Given the description of an element on the screen output the (x, y) to click on. 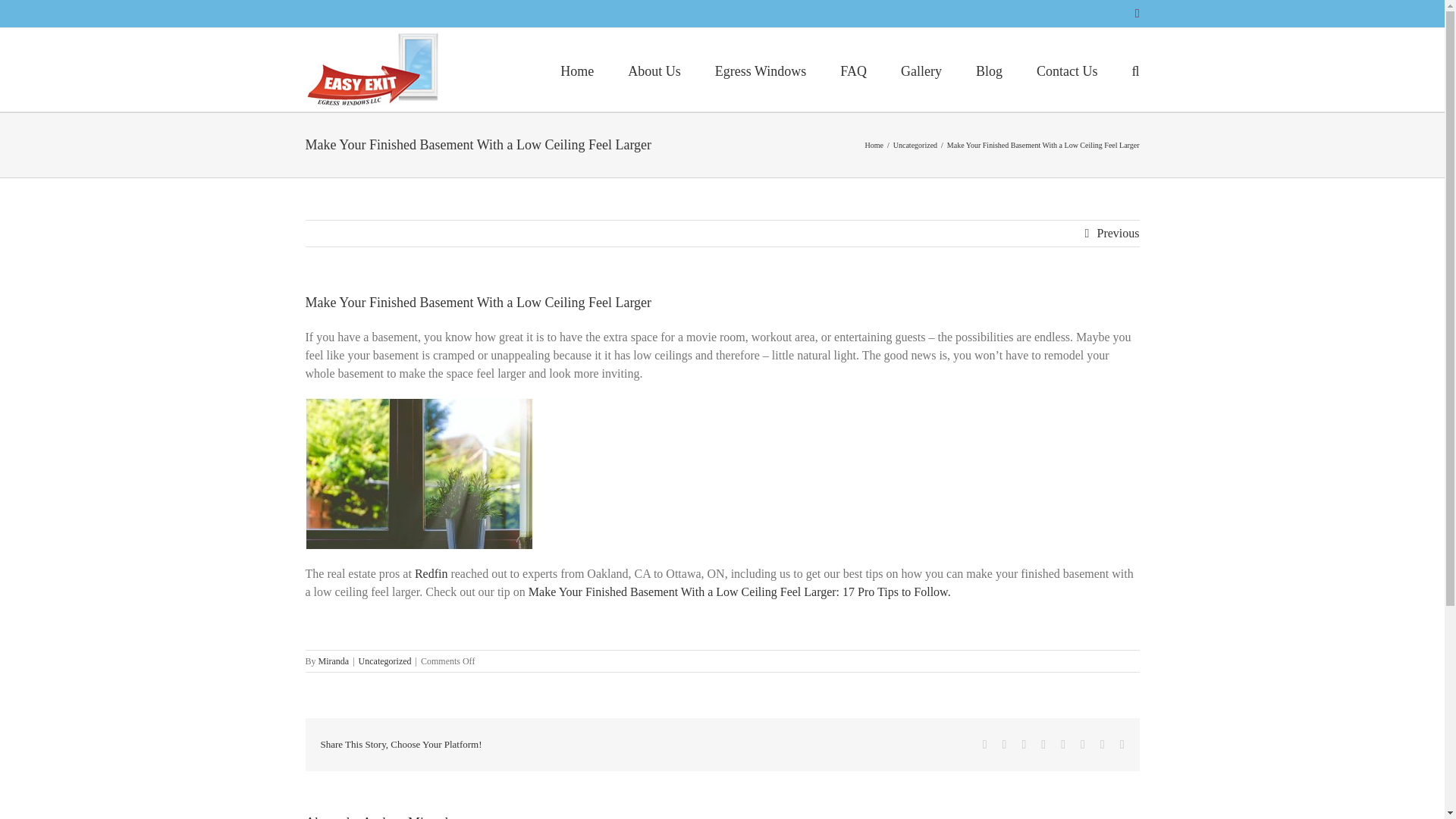
Egress Windows (760, 69)
Miranda (333, 661)
Posts by Miranda (430, 816)
Home (873, 144)
Redfin (431, 573)
Uncategorized (915, 144)
Previous (1117, 233)
Posts by Miranda (333, 661)
Miranda (430, 816)
Uncategorized (385, 661)
